Given the description of an element on the screen output the (x, y) to click on. 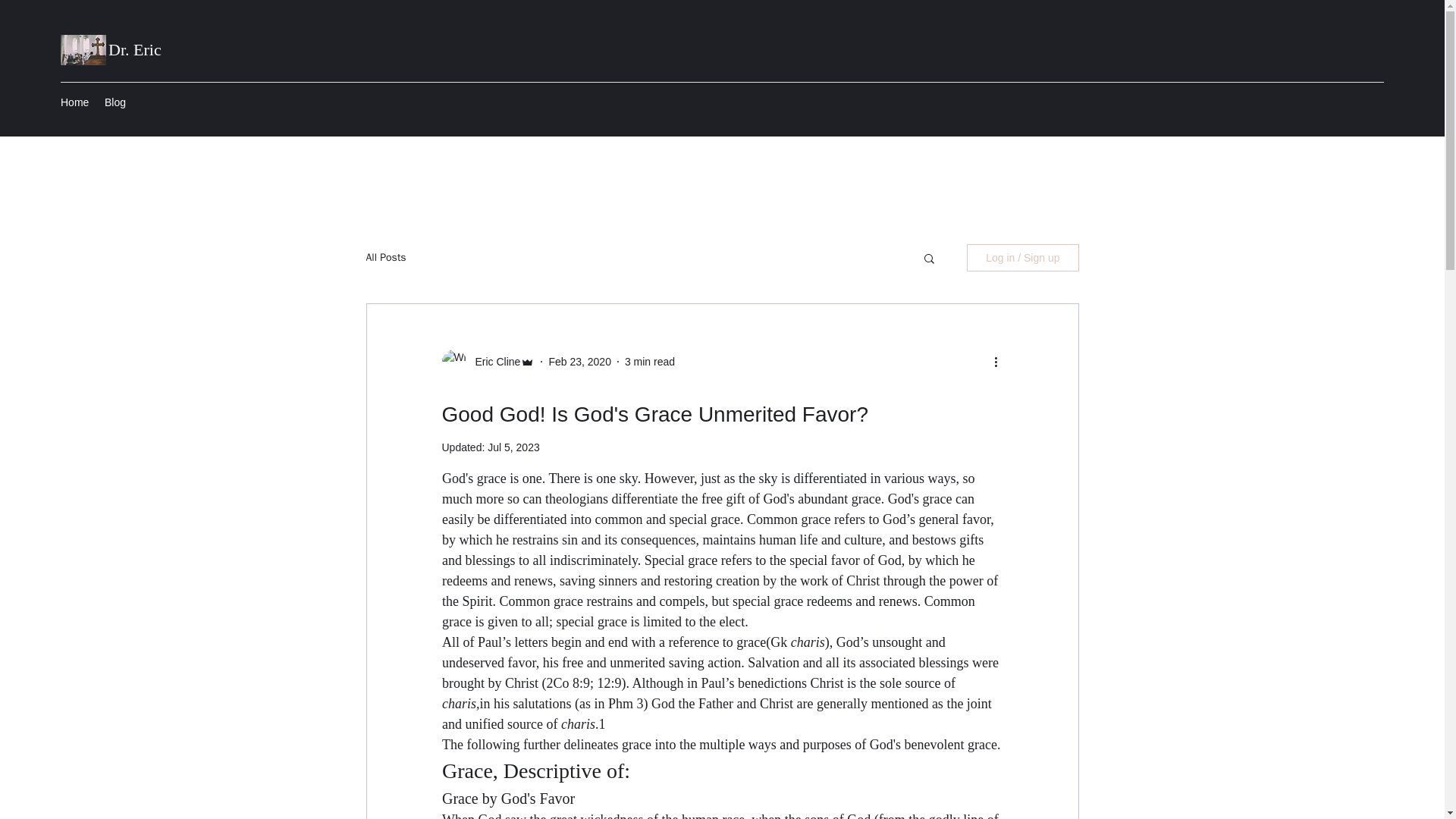
3 min read (649, 360)
Dr. Eric (134, 49)
Home (74, 101)
Feb 23, 2020 (579, 360)
Jul 5, 2023 (513, 447)
Eric Cline (492, 360)
Blog (115, 101)
All Posts (385, 257)
